Given the description of an element on the screen output the (x, y) to click on. 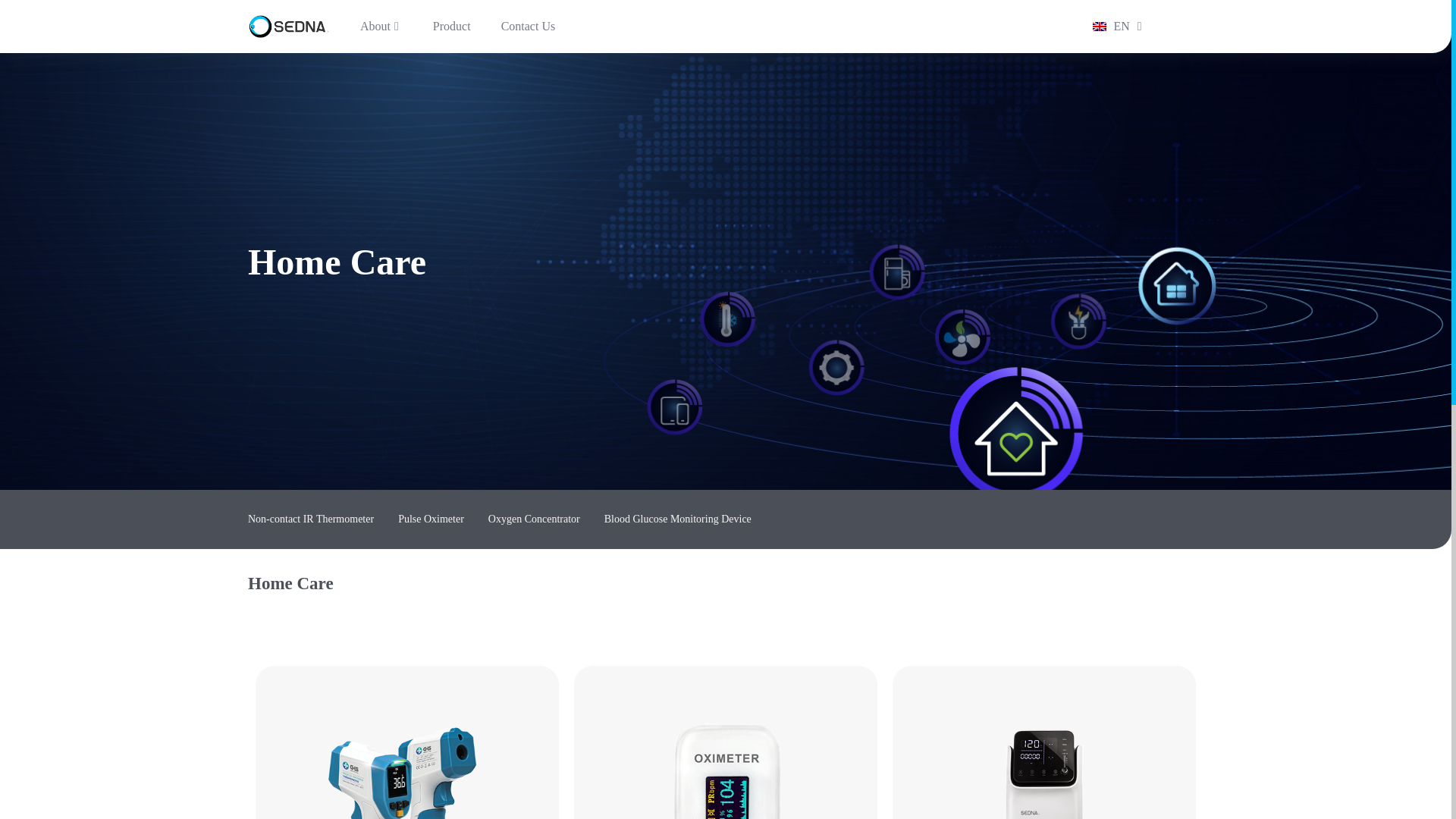
About (381, 26)
EN (1108, 26)
EN (1108, 26)
Product (452, 26)
Contact Us (528, 26)
